Given the description of an element on the screen output the (x, y) to click on. 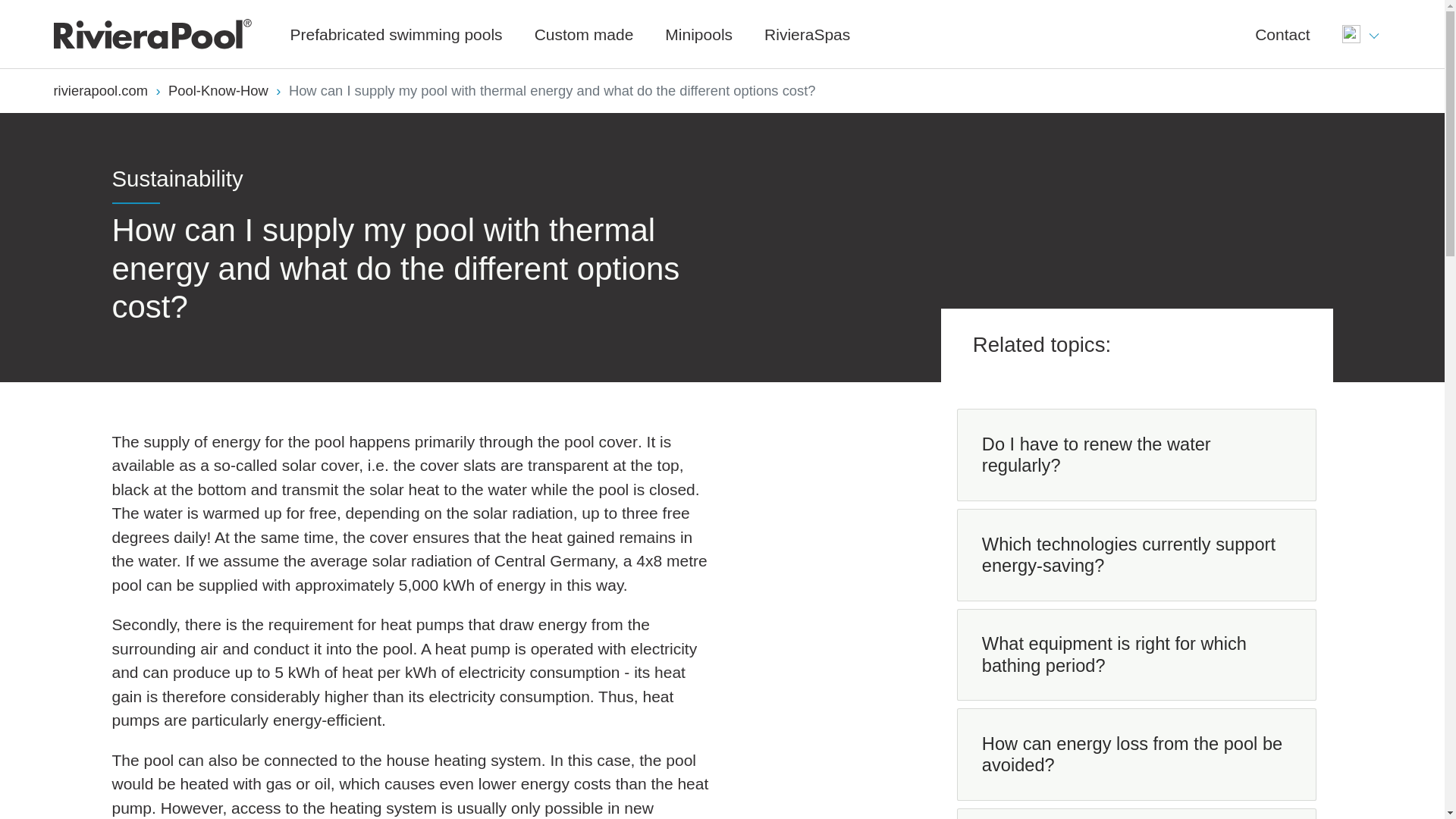
Pool-Know-How (217, 90)
RivieraPool Fertigschwimmbad GmbH (151, 33)
What equipment is right for which bathing period? (1136, 655)
Pool-Know-How (217, 90)
Minipools (698, 33)
Contact (1281, 33)
Custom made (583, 33)
Custom made (583, 33)
Contact (1281, 33)
How can energy loss from the pool be avoided? (1136, 754)
